Given the description of an element on the screen output the (x, y) to click on. 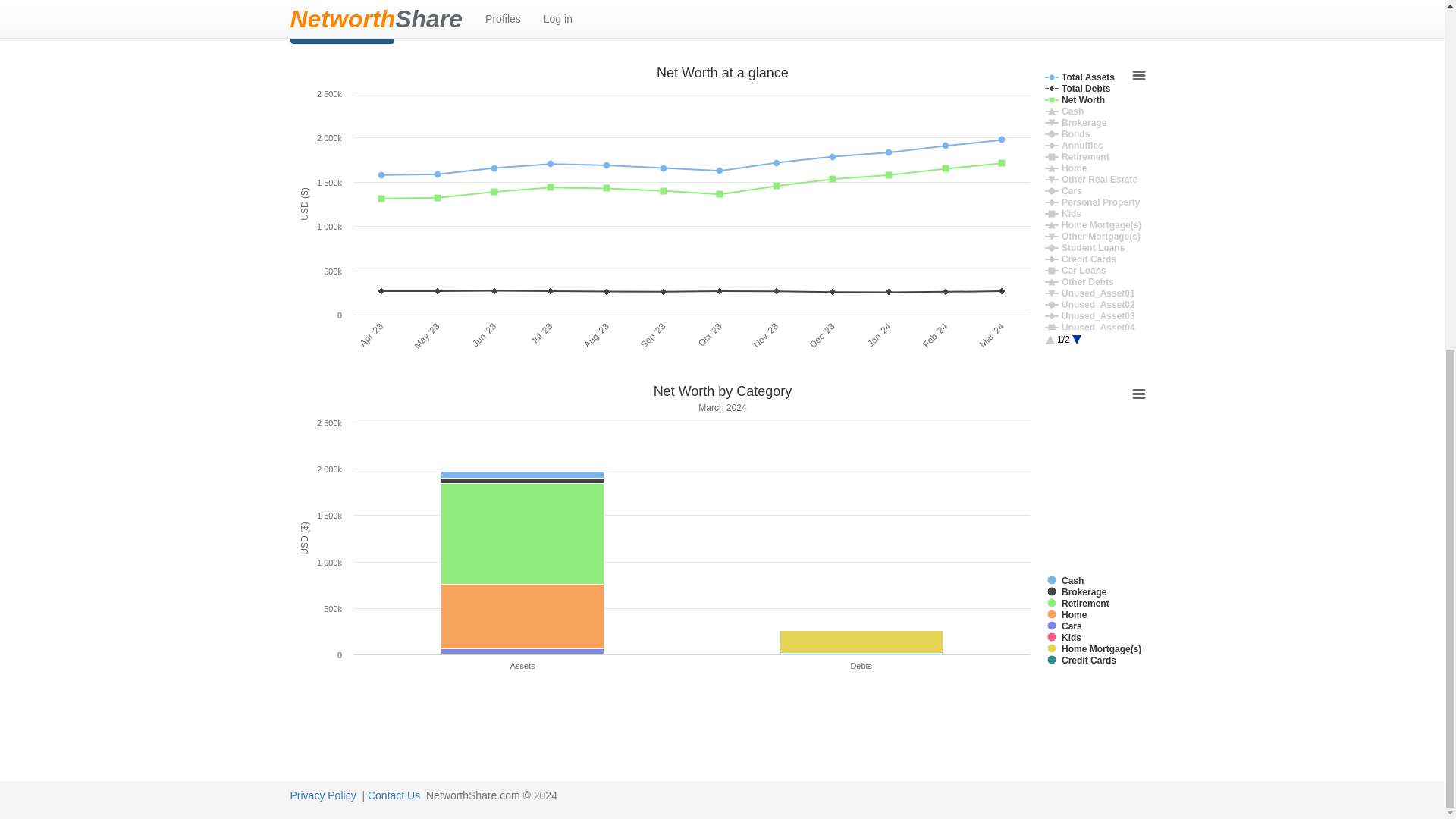
Login to comment (341, 31)
Privacy Policy (322, 795)
Contact Us (394, 795)
Login to comment (341, 31)
1000 character max (423, 6)
